Given the description of an element on the screen output the (x, y) to click on. 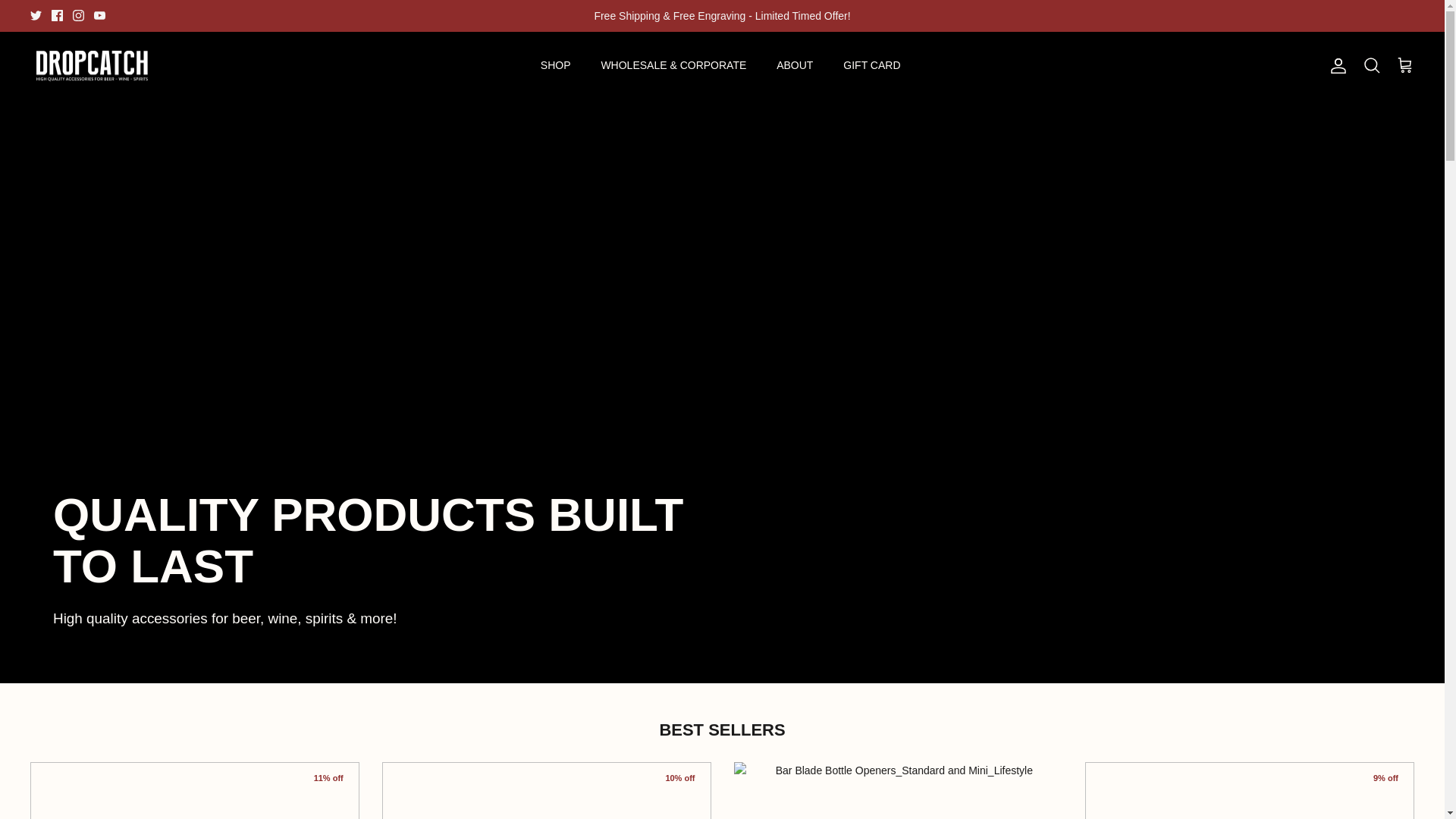
DropCatch (92, 65)
Facebook (56, 15)
Instagram (78, 15)
Instagram (78, 15)
Twitter (36, 15)
Youtube (99, 15)
Twitter (36, 15)
Facebook (56, 15)
